Given the description of an element on the screen output the (x, y) to click on. 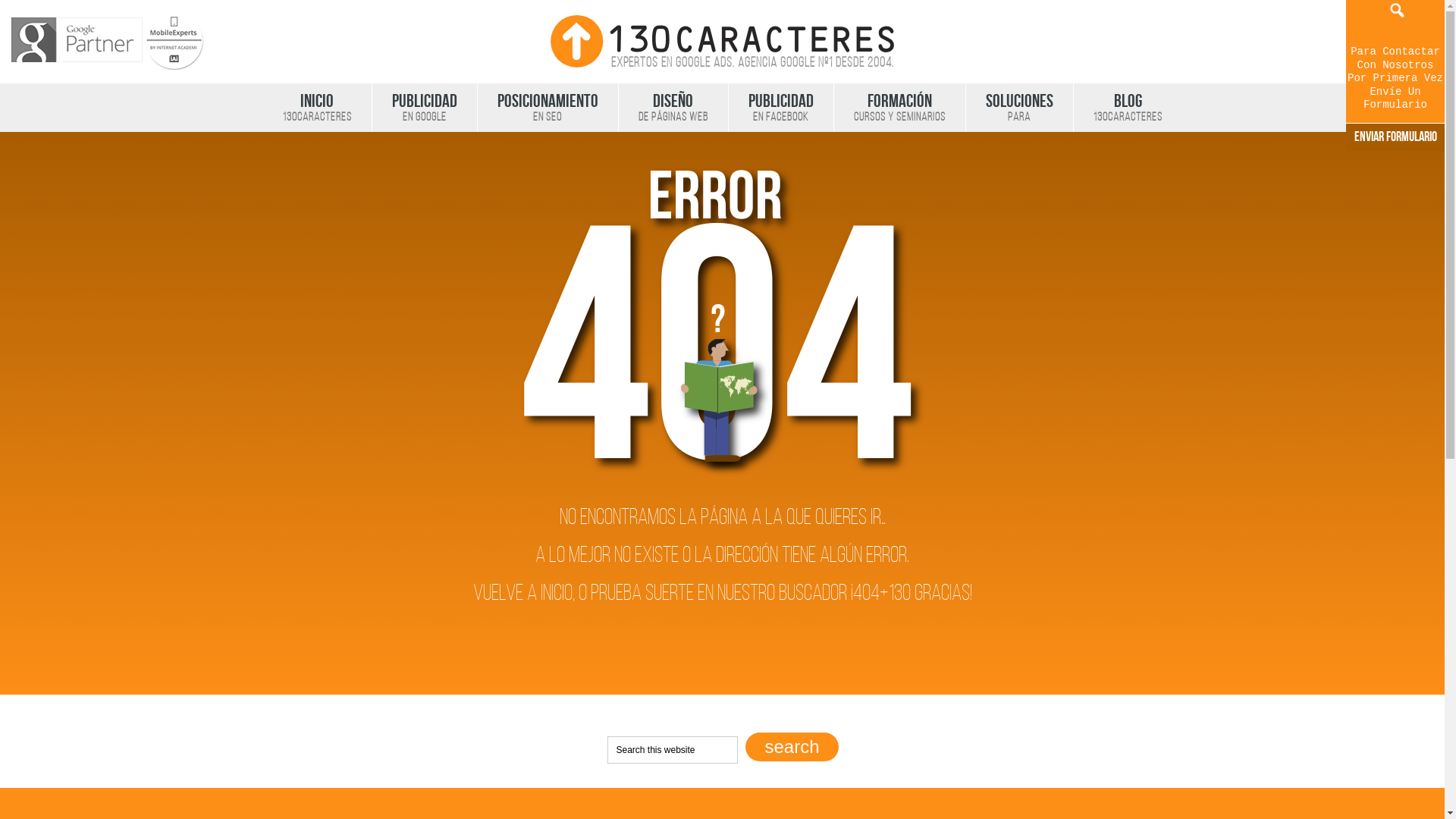
SOLUCIONES
PARA Element type: text (1018, 107)
INICIO
130CARACTERES Element type: text (316, 107)
PUBLICIDAD
EN FACEBOOK Element type: text (780, 107)
enviar formulario Element type: text (1395, 136)
BLOG
130CARACTERES Element type: text (1126, 107)
Search Element type: text (791, 746)
POSICIONAMIENTO
EN SEO Element type: text (546, 107)
PUBLICIDAD
EN GOOGLE Element type: text (423, 107)
